Given the description of an element on the screen output the (x, y) to click on. 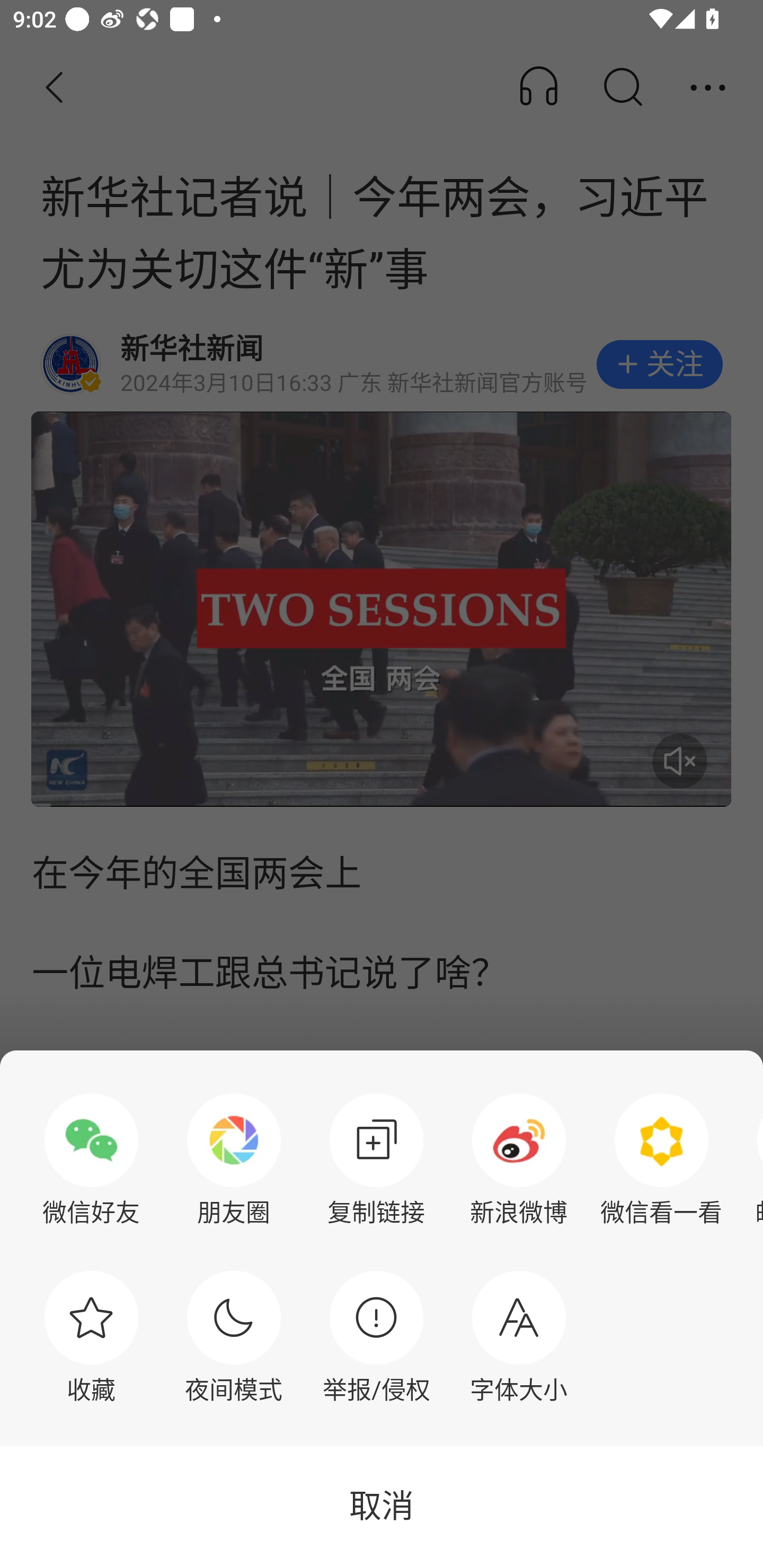
微信好友 (90, 1159)
朋友圈 (233, 1159)
 复制链接 复制链接 (376, 1159)
新浪微博 (518, 1159)
微信看一看 (661, 1159)
 收藏 收藏 (90, 1337)
 夜间模式 夜间模式 (233, 1337)
 举报/侵权 举报/侵权 (376, 1337)
 字体大小 字体大小 (518, 1337)
取消 (381, 1506)
